Given the description of an element on the screen output the (x, y) to click on. 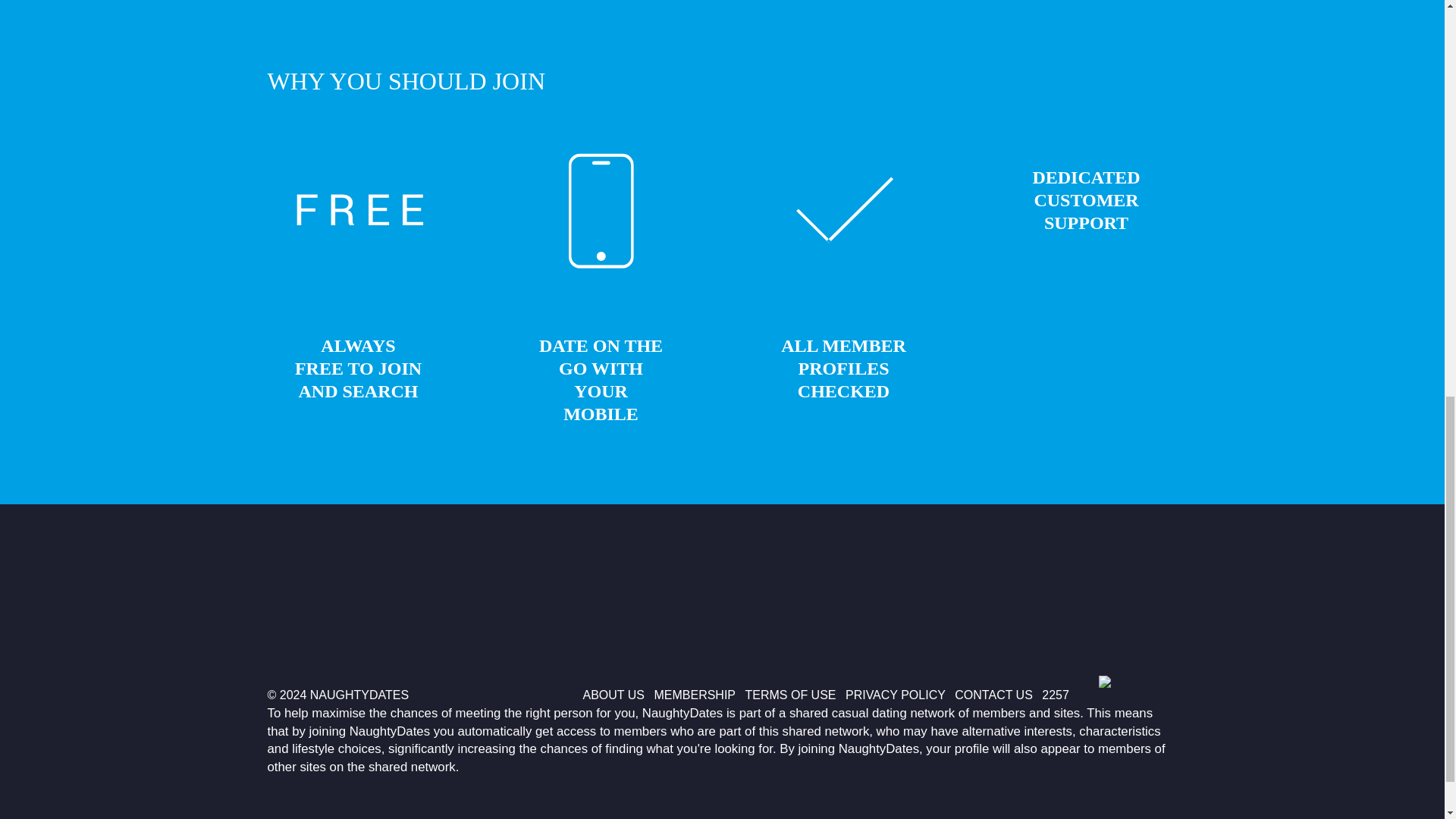
TERMS OF USE (789, 694)
CONTACT US (993, 694)
2257 (1055, 694)
ABOUT US (613, 694)
PRIVACY POLICY (894, 694)
MEMBERSHIP (694, 694)
